Given the description of an element on the screen output the (x, y) to click on. 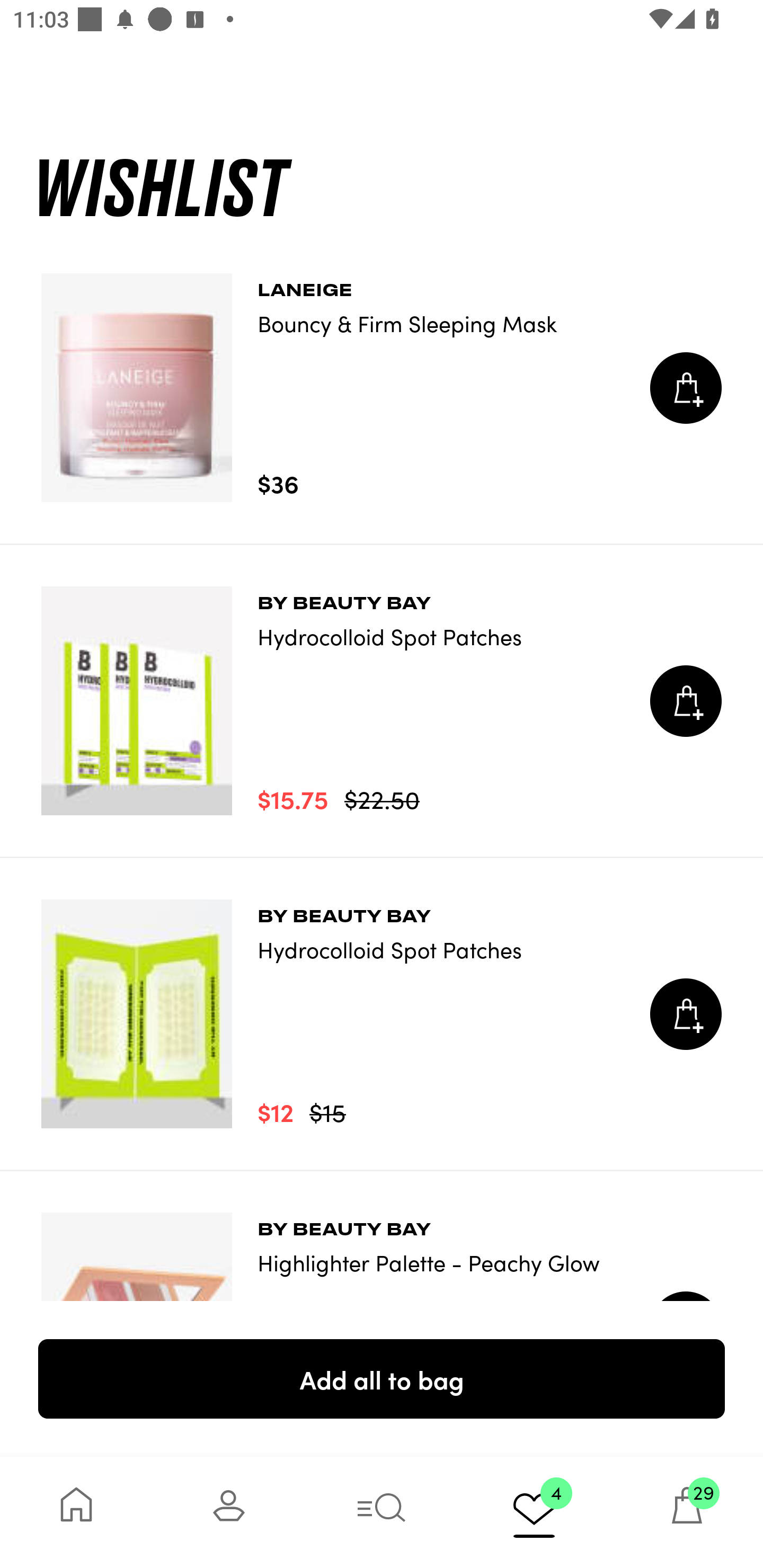
LANEIGE Bouncy & Firm Sleeping Mask $36 (381, 388)
BY BEAUTY BAY Hydrocolloid Spot Patches $12 $15 (381, 1013)
BY BEAUTY BAY Highlighter Palette - Peachy Glow (381, 1236)
BY BEAUTY BAY Highlighter Palette - Peachy Glow (381, 1236)
Add all to bag (381, 1379)
4 (533, 1512)
29 (686, 1512)
